Given the description of an element on the screen output the (x, y) to click on. 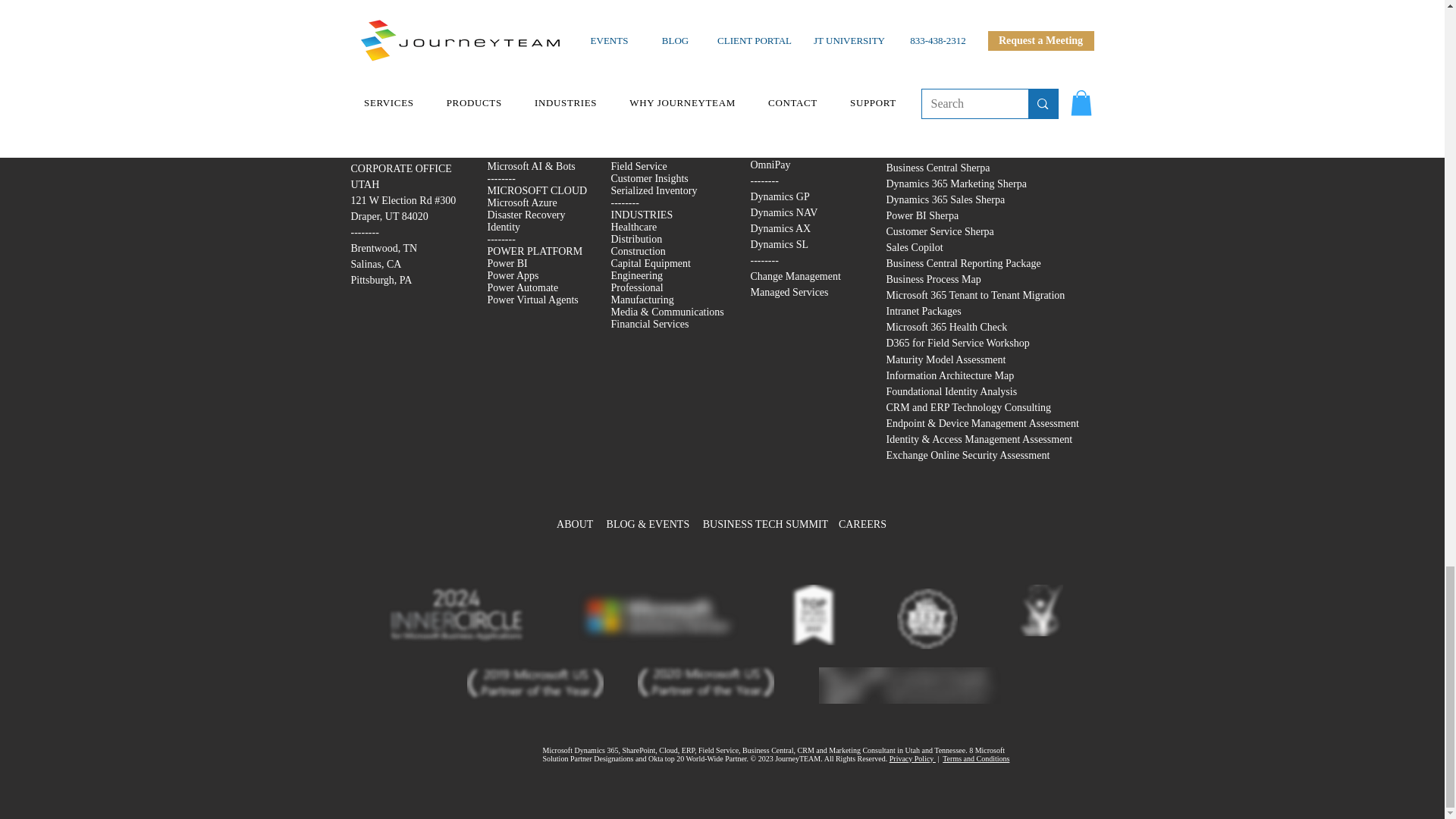
JourneyTEAM - Top Workplaces 2021 (813, 614)
2020 Microsoft US Partner of the Year logo (705, 681)
2020 Crystal Eagle Award from Microsoft (909, 685)
Inc Magazine Best Workplaces Award (926, 618)
2019 Microsoft US Partner ofth Year (535, 685)
